Given the description of an element on the screen output the (x, y) to click on. 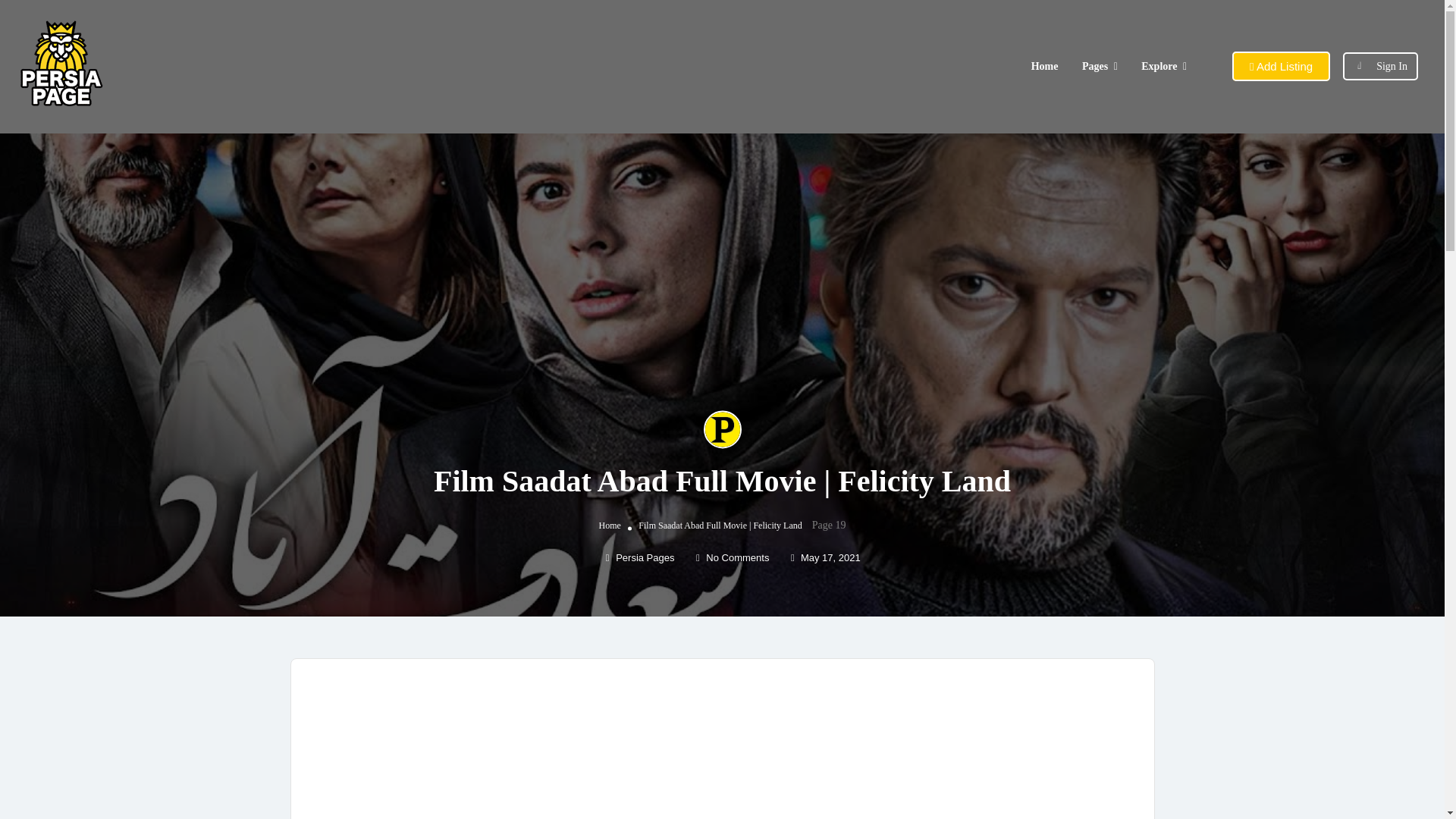
Add Listing (1280, 66)
Home (1044, 66)
Home (609, 525)
Pages (1094, 66)
Sign In (1391, 65)
Persia Pages (640, 557)
No Comments (731, 557)
Explore (1158, 66)
